Given the description of an element on the screen output the (x, y) to click on. 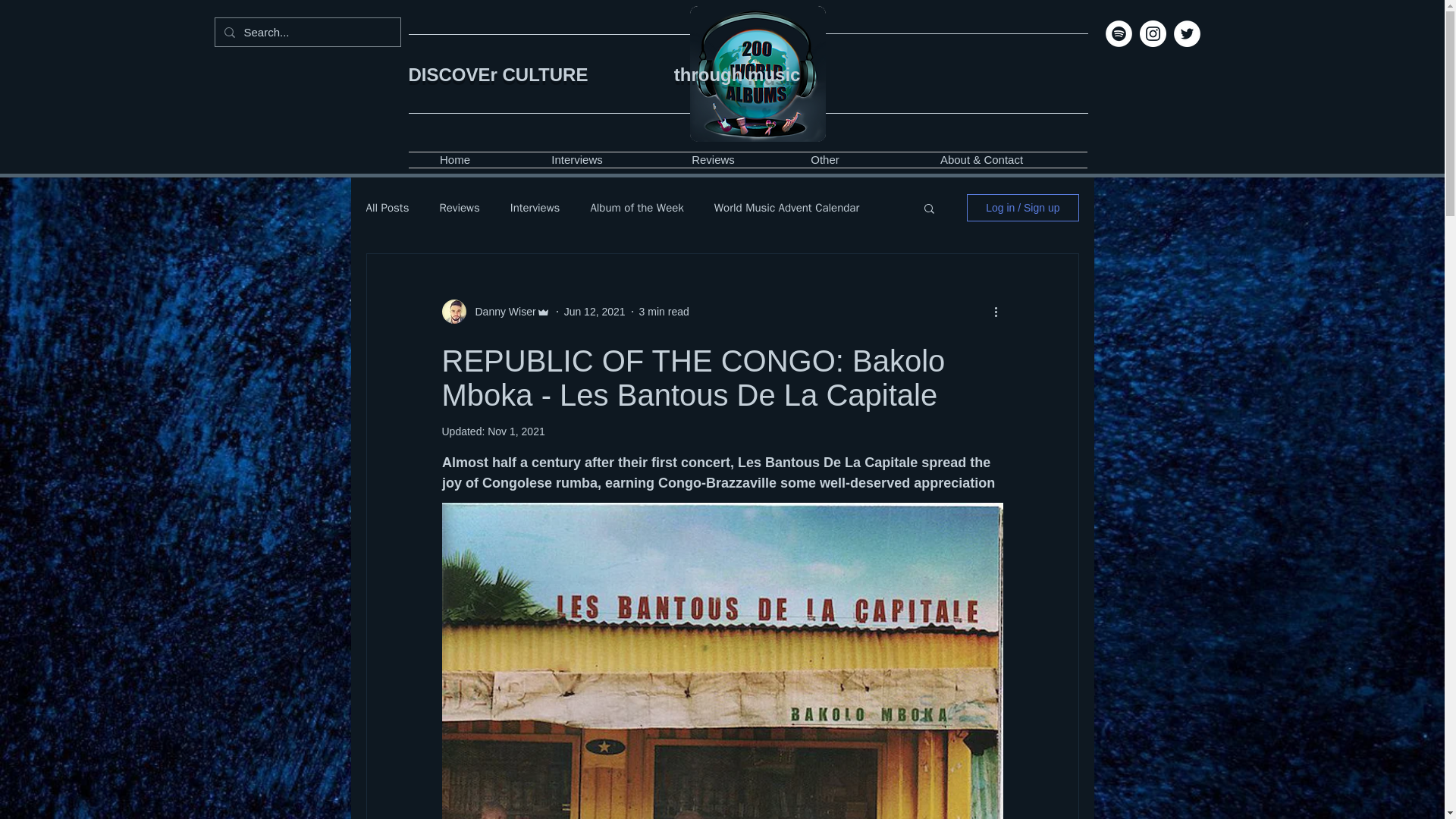
Reviews (459, 206)
Danny Wiser (500, 311)
Jun 12, 2021 (595, 310)
Home (453, 159)
Reviews (712, 159)
Interviews (535, 206)
Album of the Week (635, 206)
All Posts (387, 206)
World Music Advent Calendar (786, 206)
Nov 1, 2021 (515, 431)
